Given the description of an element on the screen output the (x, y) to click on. 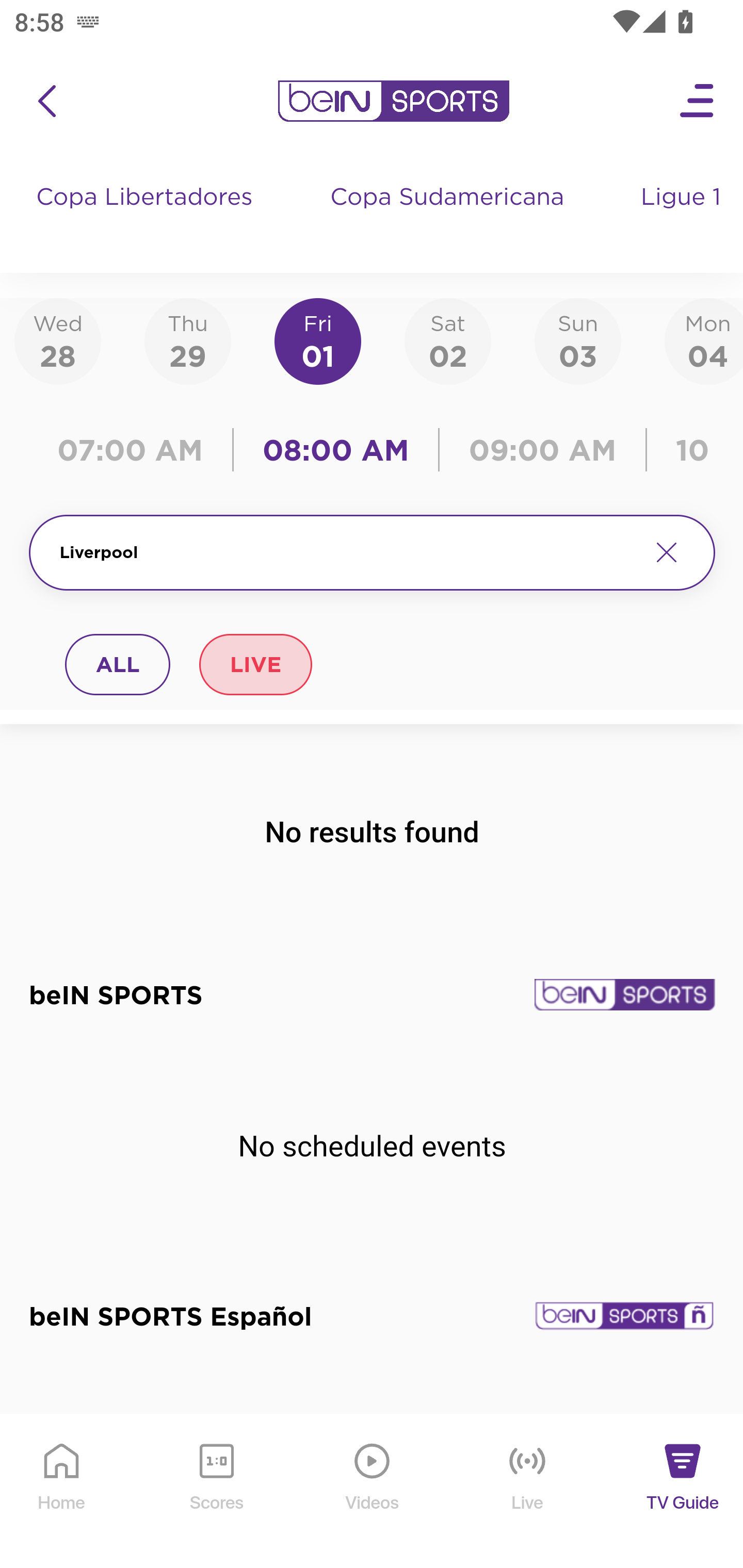
en-us?platform=mobile_android bein logo (392, 101)
icon back (46, 101)
Open Menu Icon (697, 101)
Copa Libertadores (146, 216)
Copa Sudamericana (448, 216)
Ligue 1 (682, 216)
Wed28 (58, 340)
Thu29 (187, 340)
Fri01 (318, 340)
Sat02 (447, 340)
Sun03 (578, 340)
Mon04 (703, 340)
07:00 AM (135, 449)
08:00 AM (336, 449)
09:00 AM (542, 449)
Liverpool (346, 552)
ALL (118, 663)
LIVE (255, 663)
Home Home Icon Home (61, 1491)
Scores Scores Icon Scores (216, 1491)
Videos Videos Icon Videos (372, 1491)
TV Guide TV Guide Icon TV Guide (682, 1491)
